Given the description of an element on the screen output the (x, y) to click on. 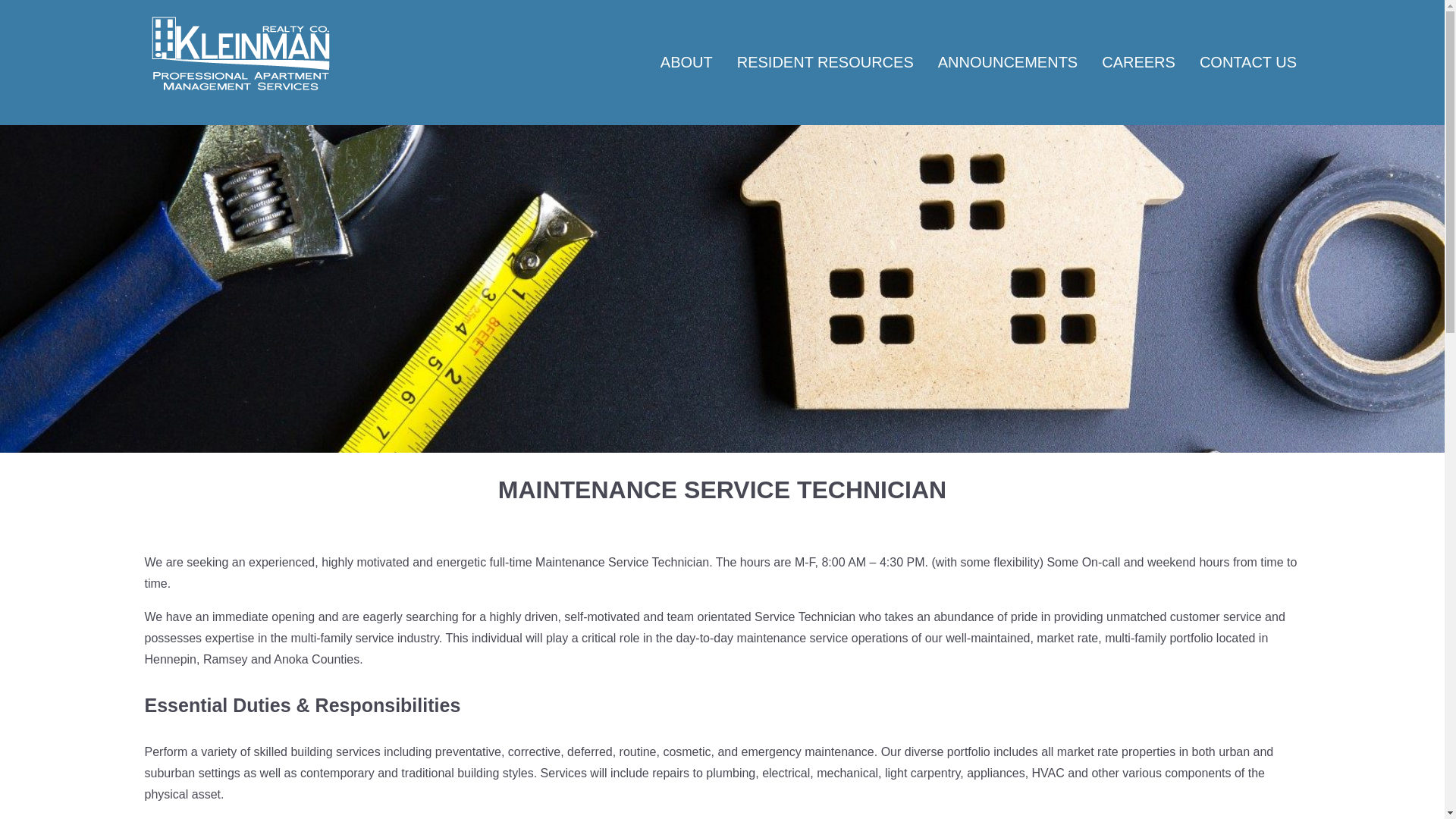
ABOUT (687, 63)
CONTACT US (1248, 63)
ANNOUNCEMENTS (1007, 63)
RESIDENT RESOURCES (825, 63)
CAREERS (1138, 63)
